Given the description of an element on the screen output the (x, y) to click on. 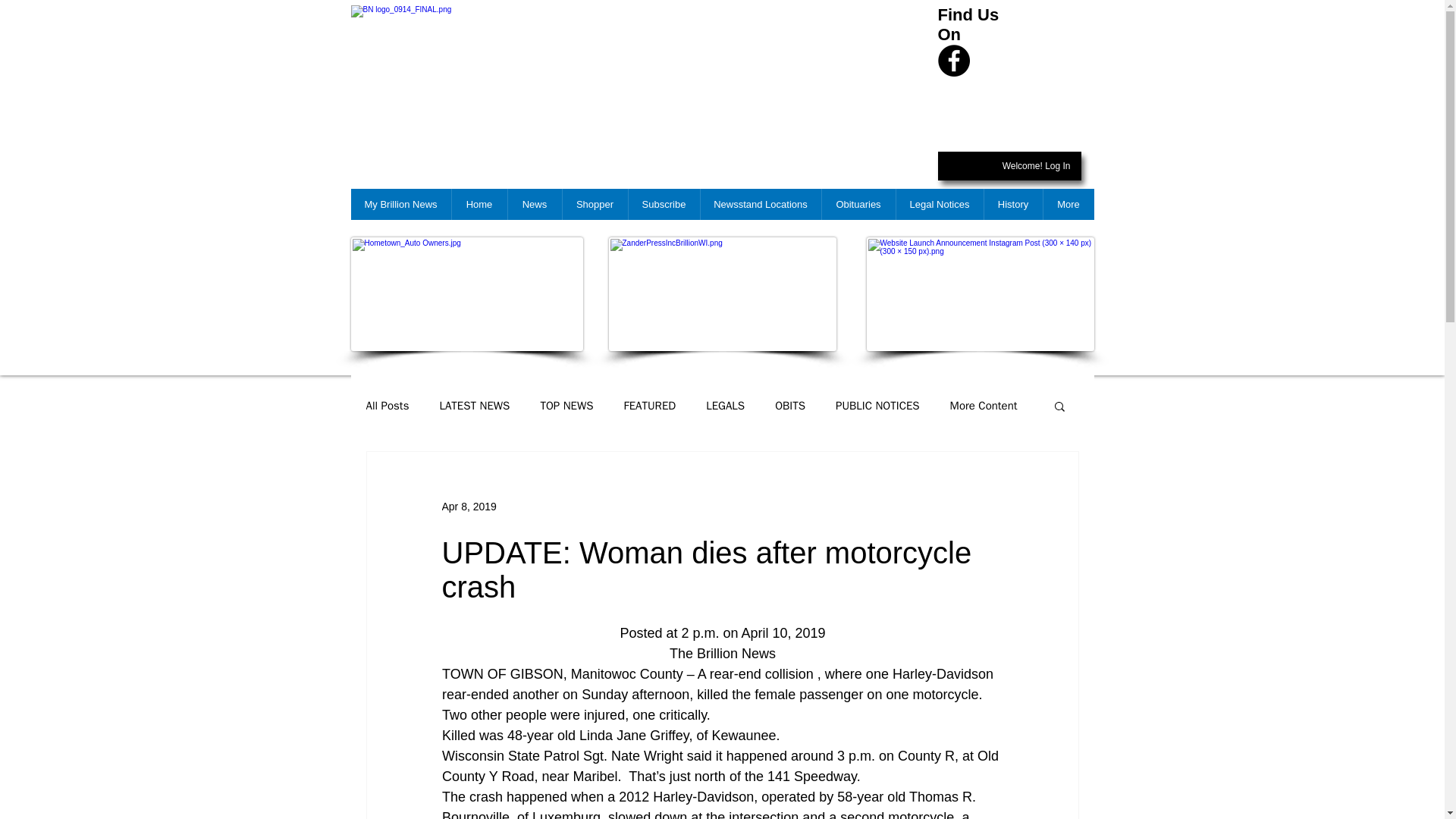
News (533, 204)
Obituaries (858, 204)
Welcome! Log In (1036, 166)
More Content (983, 405)
Newsstand Locations (759, 204)
Home (477, 204)
FEATURED (650, 405)
TOP NEWS (566, 405)
LATEST NEWS (474, 405)
OBITS (789, 405)
History (1012, 204)
All Posts (387, 405)
Subscribe (663, 204)
Legal Notices (938, 204)
My Brillion News (399, 204)
